Given the description of an element on the screen output the (x, y) to click on. 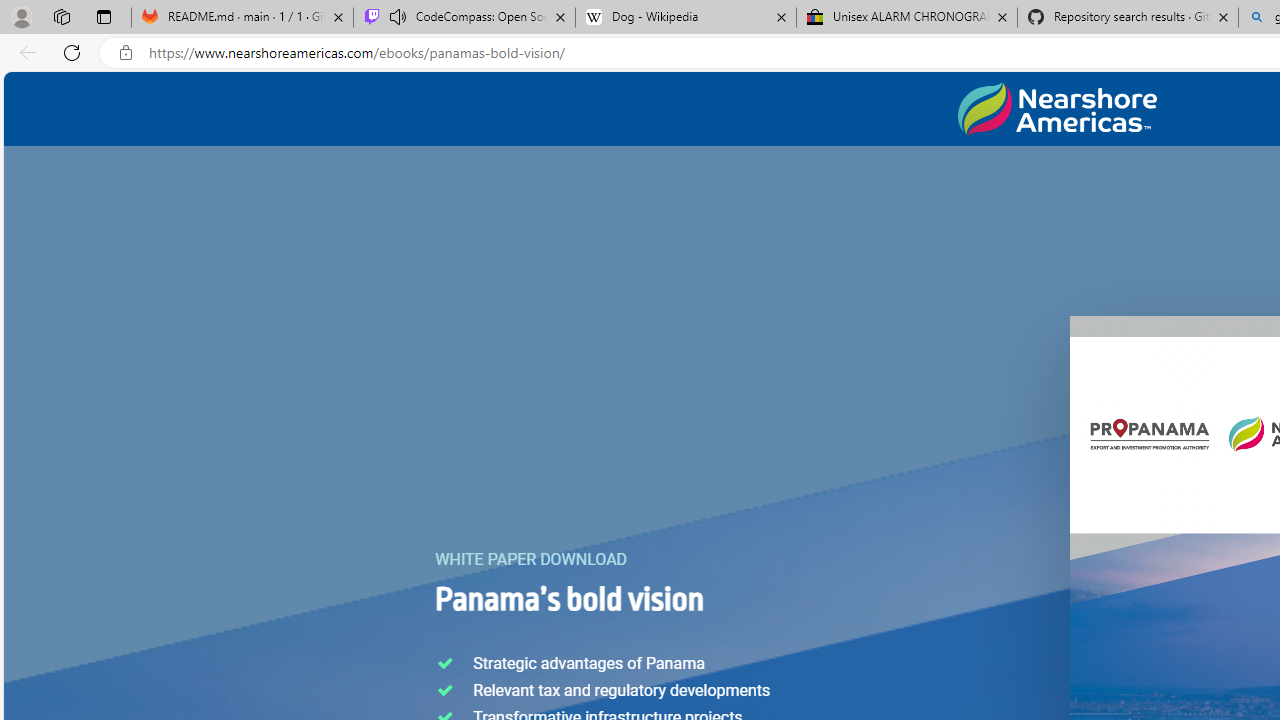
Class: center (1057, 109)
Dog - Wikipedia (686, 17)
Mute tab (397, 16)
